Given the description of an element on the screen output the (x, y) to click on. 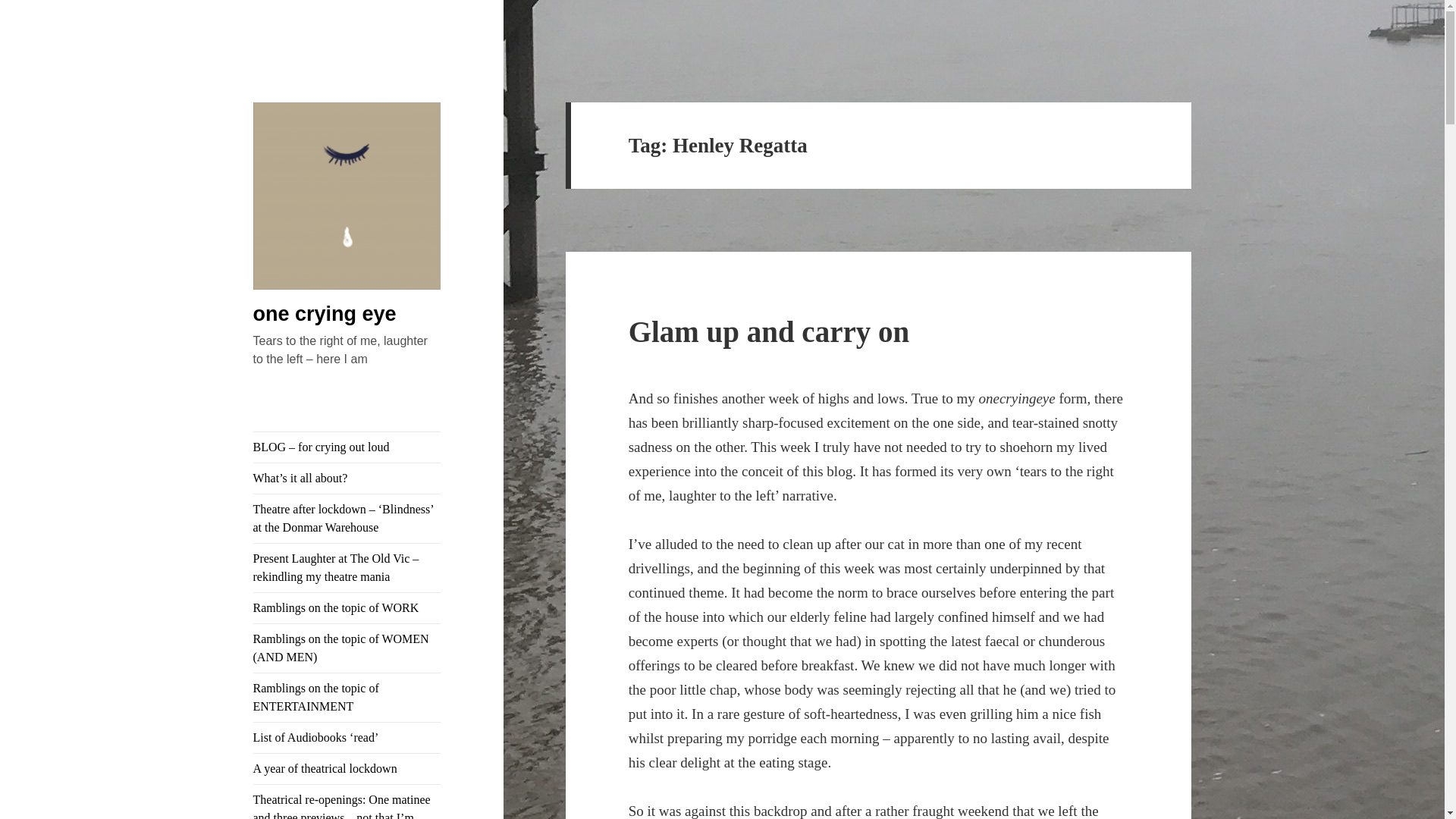
Ramblings on the topic of ENTERTAINMENT (347, 697)
Ramblings on the topic of WORK (347, 607)
A year of theatrical lockdown (347, 768)
one crying eye (324, 313)
